Given the description of an element on the screen output the (x, y) to click on. 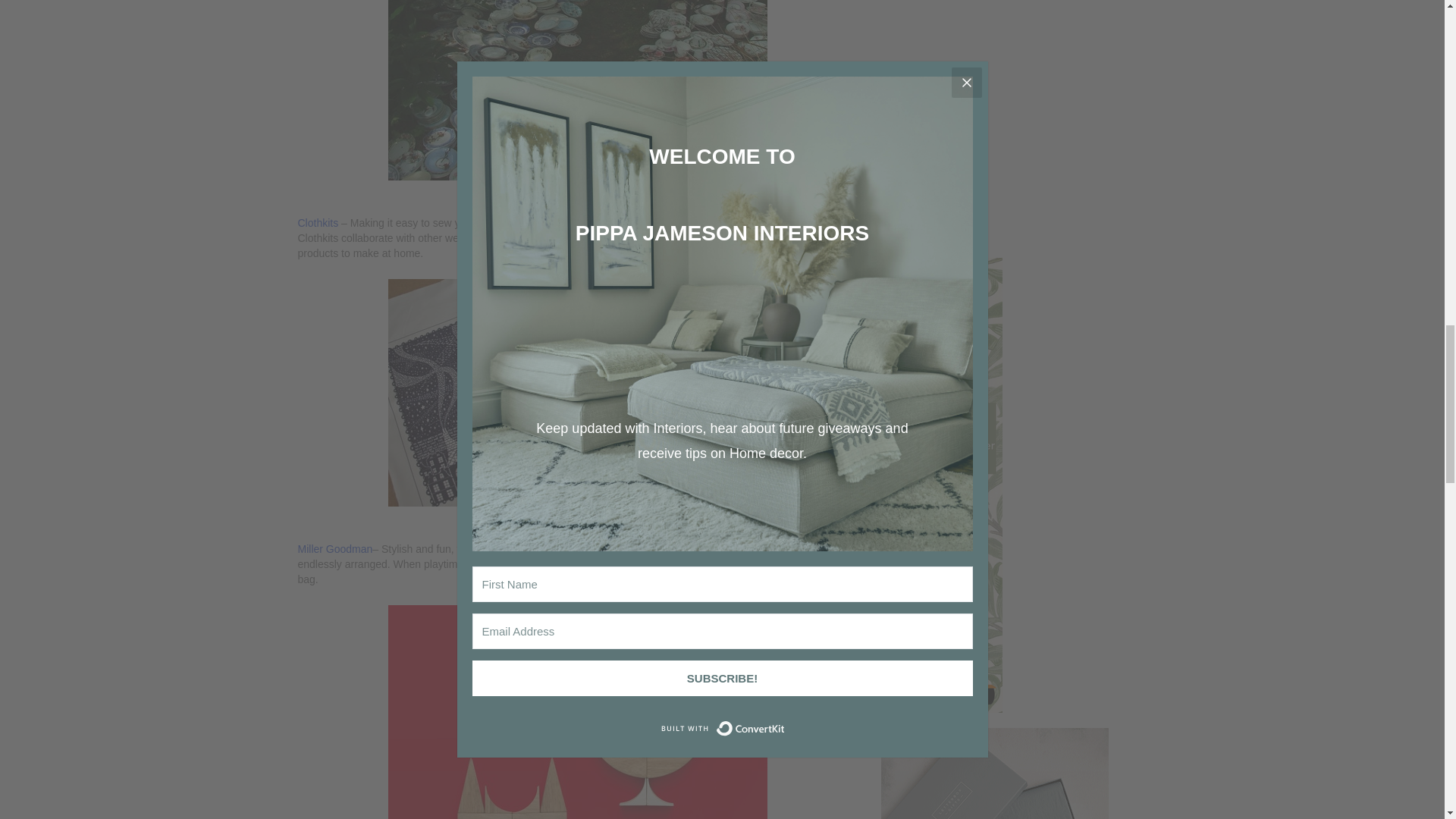
Miller Goodman (334, 548)
house and birds  (577, 392)
Play shapes (577, 712)
Clothkits (318, 223)
Plate sorting (577, 90)
